Given the description of an element on the screen output the (x, y) to click on. 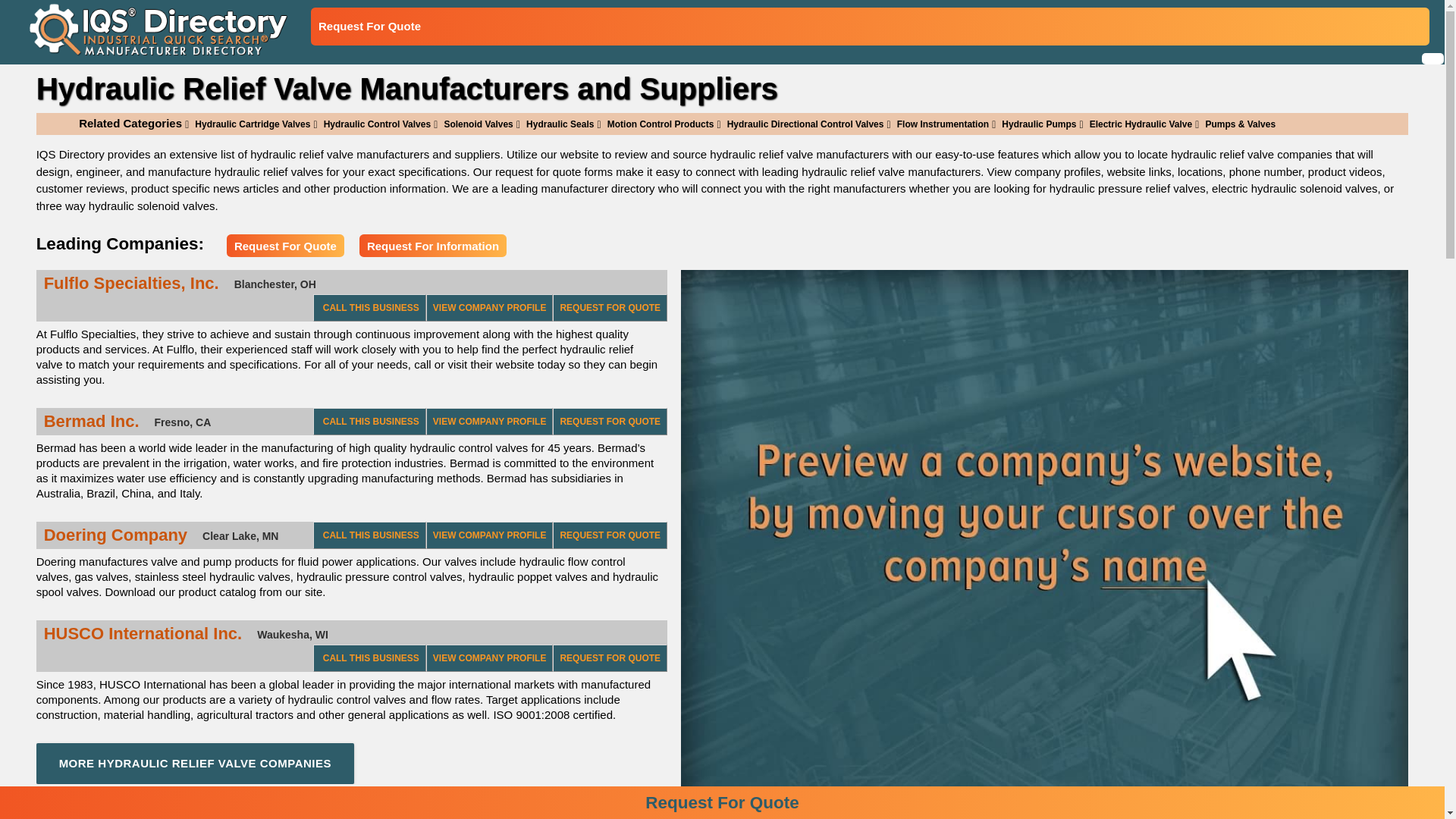
VIEW COMPANY PROFILE (489, 420)
Bermad Profile (489, 420)
Hydraulic Control Valves (372, 123)
MORE HYDRAULIC RELIEF VALVE COMPANIES (194, 762)
 CALL THIS BUSINESS (369, 307)
Bermad (98, 421)
IQS Directory (151, 30)
Hydraulic Pumps (1033, 123)
Hydraulic Seals (555, 123)
Fulflo Specialties, Inc. (138, 283)
